Given the description of an element on the screen output the (x, y) to click on. 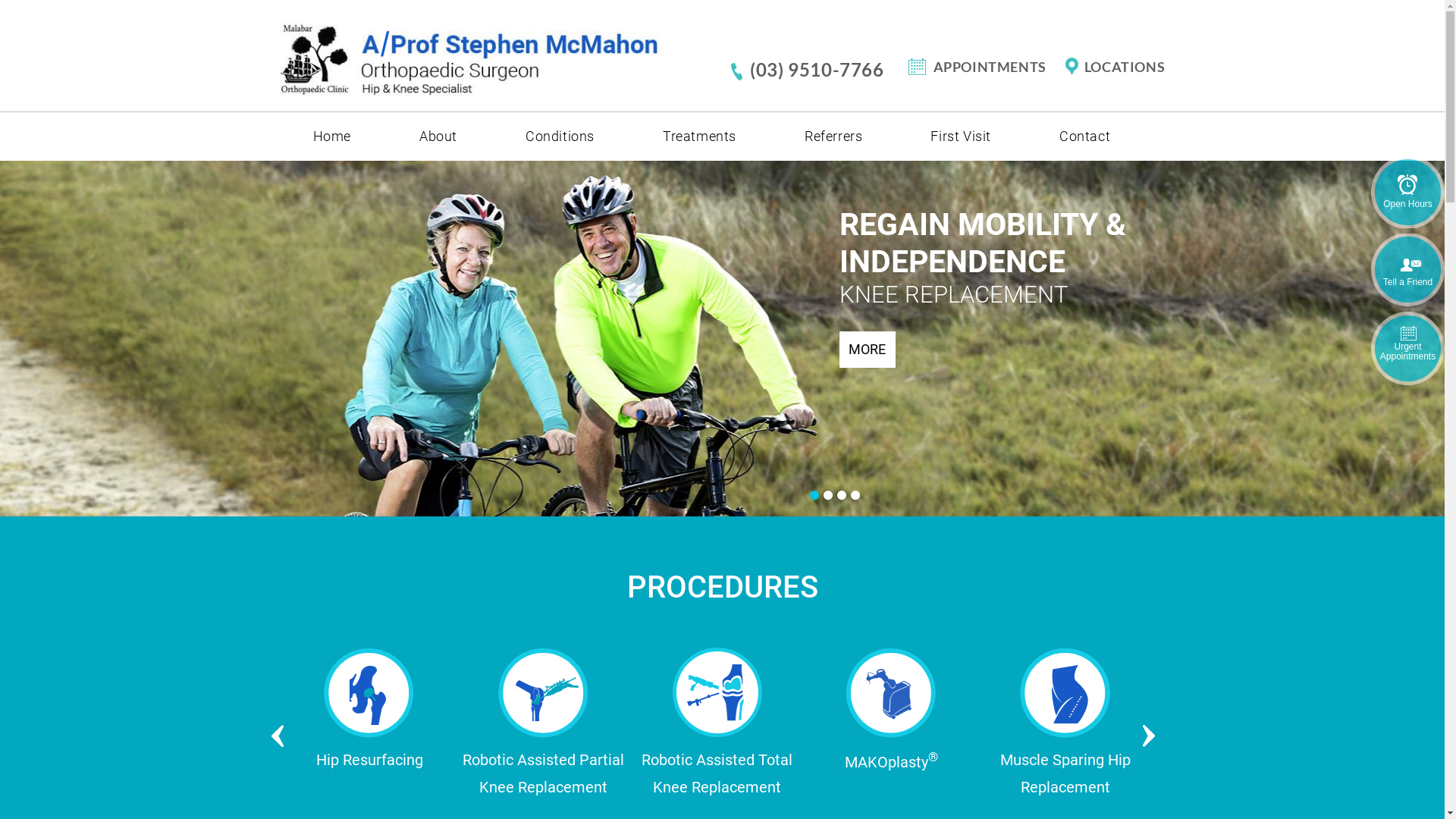
Contact Element type: text (1084, 136)
Urgent Appointments Element type: text (1407, 348)
First Visit Element type: text (960, 136)
Tell a Friend Element type: text (1407, 270)
Open Hours Element type: text (1407, 192)
LOCATIONS Element type: text (1112, 66)
Hip Resurfacing Element type: text (1065, 721)
Referrers Element type: text (833, 136)
Treatments Element type: text (699, 136)
Conditions Element type: text (559, 136)
(03) 9510-7766 Element type: text (818, 70)
About Element type: text (438, 136)
APPOINTMENTS Element type: text (983, 66)
MORE Element type: text (866, 349)
Home Element type: text (332, 136)
